Given the description of an element on the screen output the (x, y) to click on. 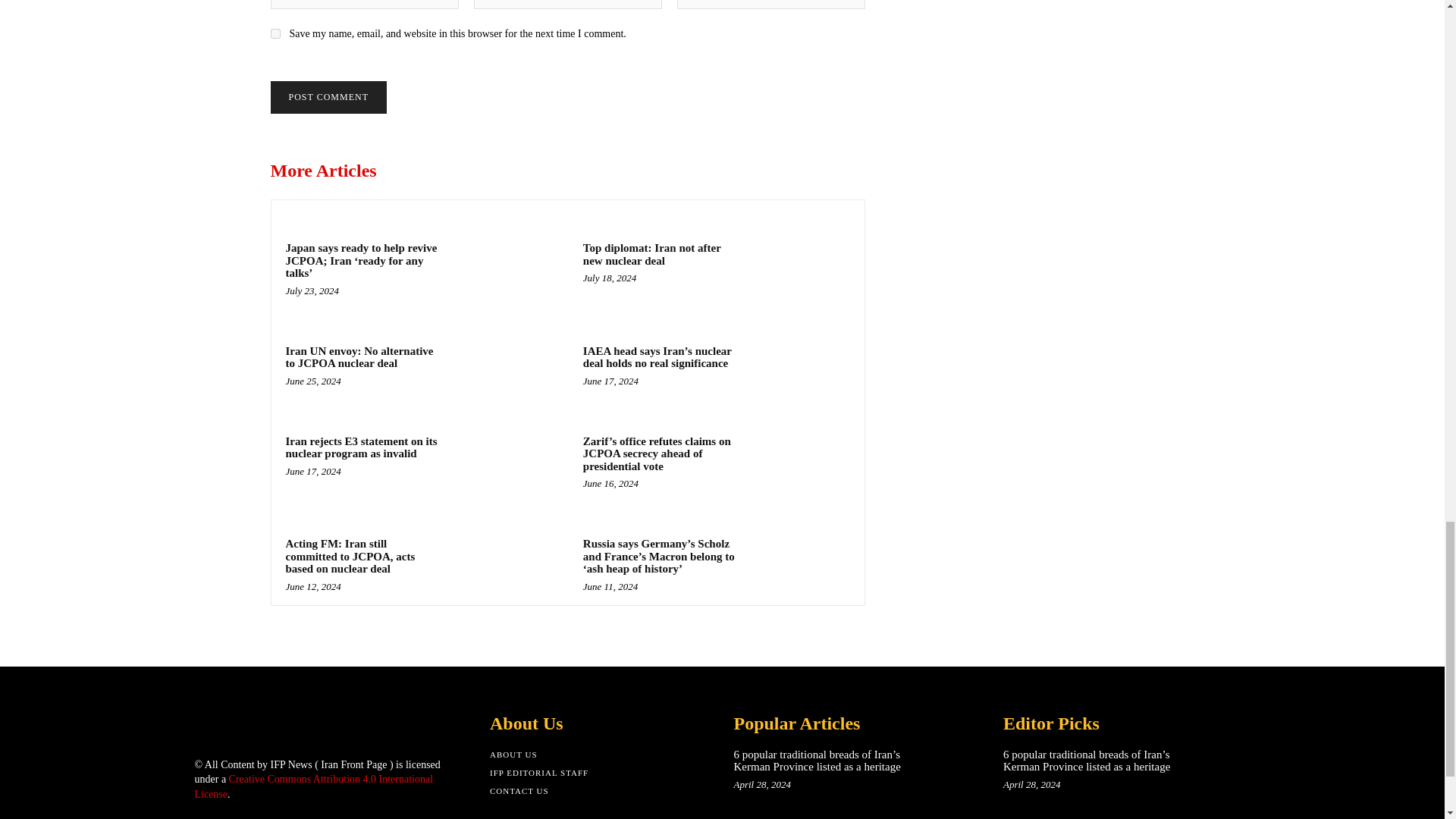
yes (274, 33)
Post Comment (327, 97)
